Given the description of an element on the screen output the (x, y) to click on. 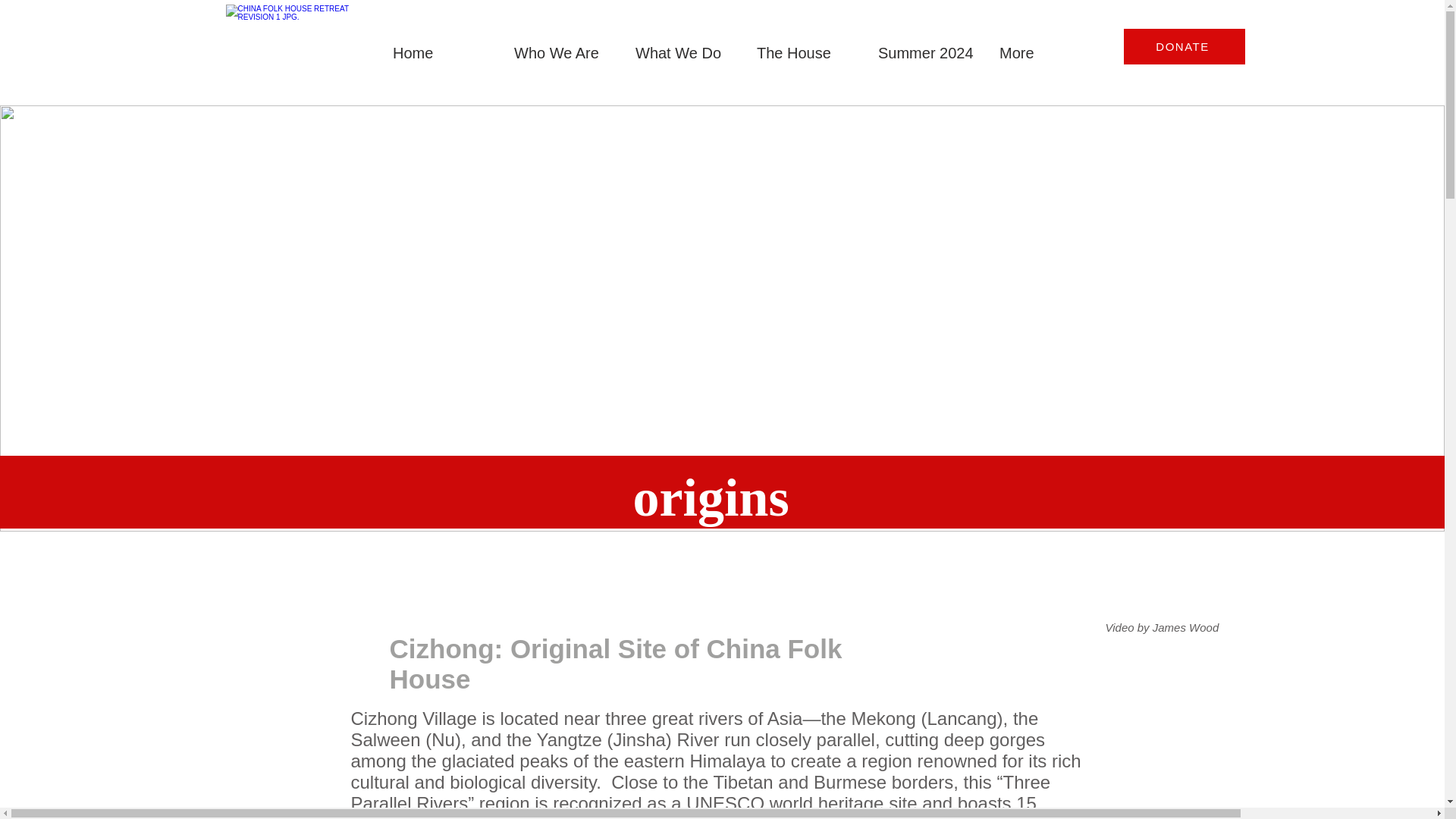
Home (439, 46)
Summer 2024 (924, 46)
DONATE (1184, 46)
